Given the description of an element on the screen output the (x, y) to click on. 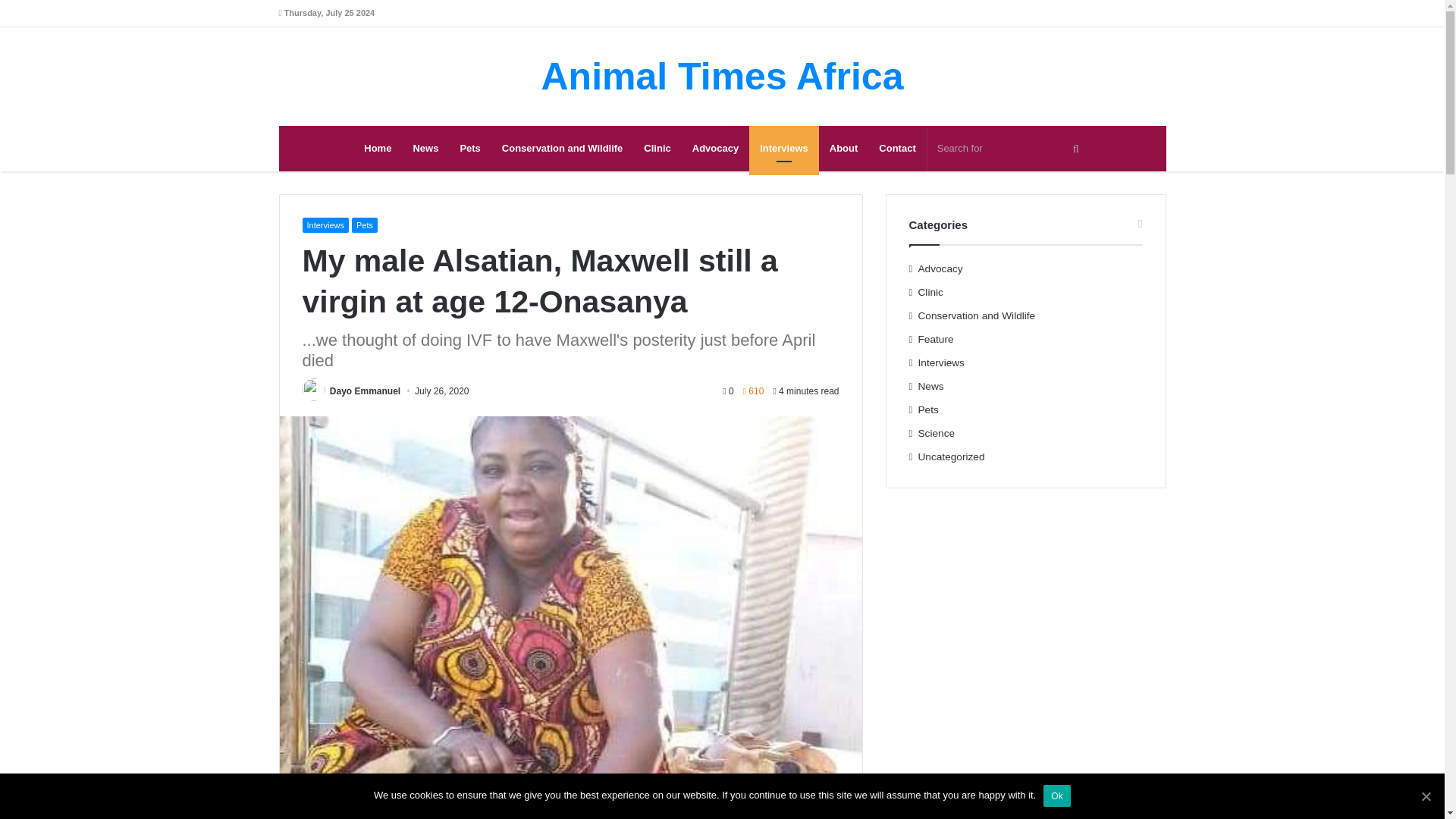
Pets (469, 148)
Conservation and Wildlife (562, 148)
0 (727, 390)
About (843, 148)
Dayo Emmanuel (365, 390)
News (424, 148)
Interviews (783, 148)
Advocacy (715, 148)
Animal Times Africa (722, 76)
Clinic (657, 148)
Dayo Emmanuel (365, 390)
Home (377, 148)
Contact (896, 148)
Pets (364, 224)
Search for (1008, 148)
